Given the description of an element on the screen output the (x, y) to click on. 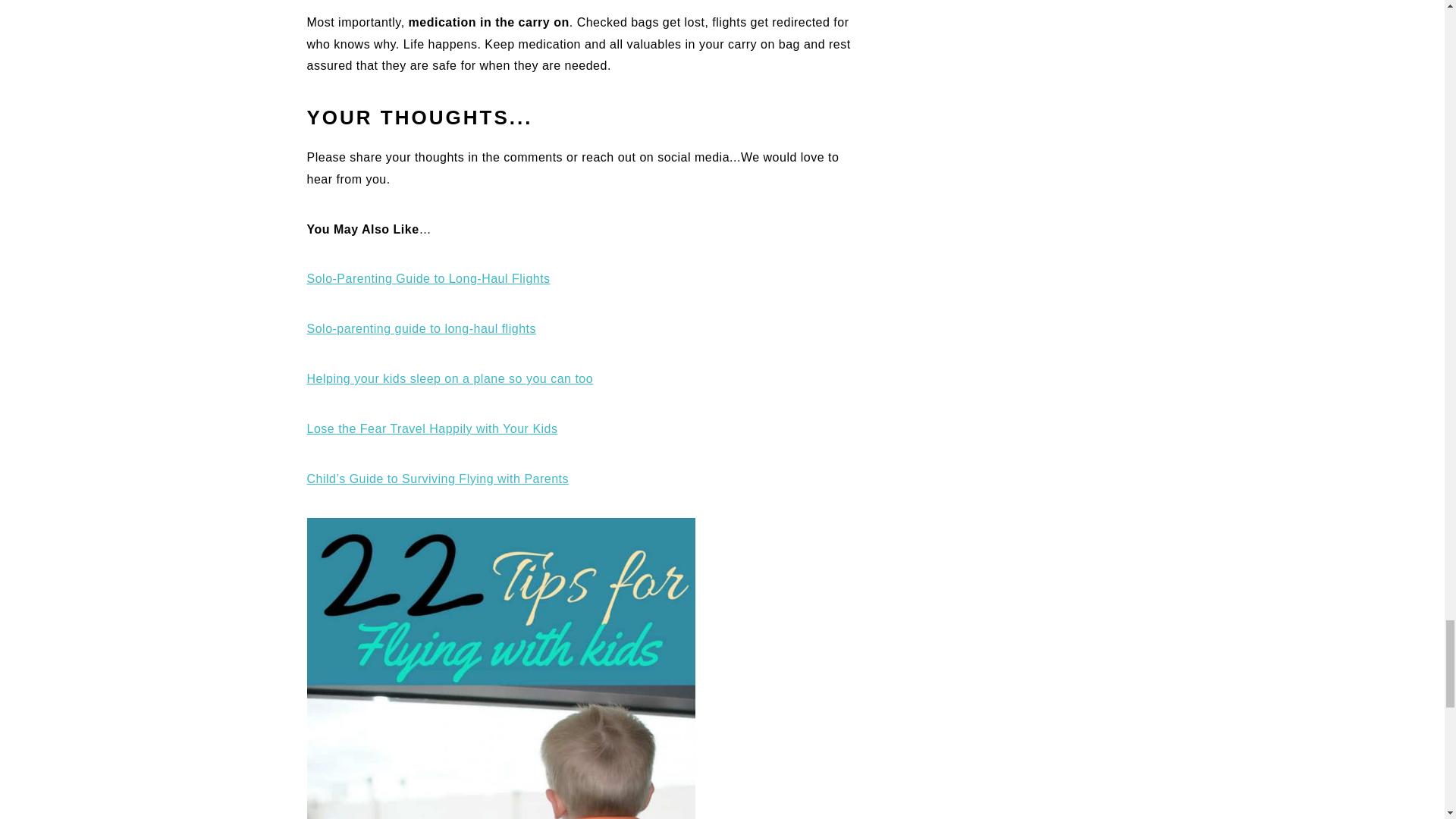
Solo-parenting guide to long-haul flights (420, 328)
Solo-Parenting Guide to Long-Haul Flights (427, 278)
Helping your kids sleep on a plane so you can too (448, 378)
Lose the Fear Travel Happily with Your Kids (431, 428)
